Given the description of an element on the screen output the (x, y) to click on. 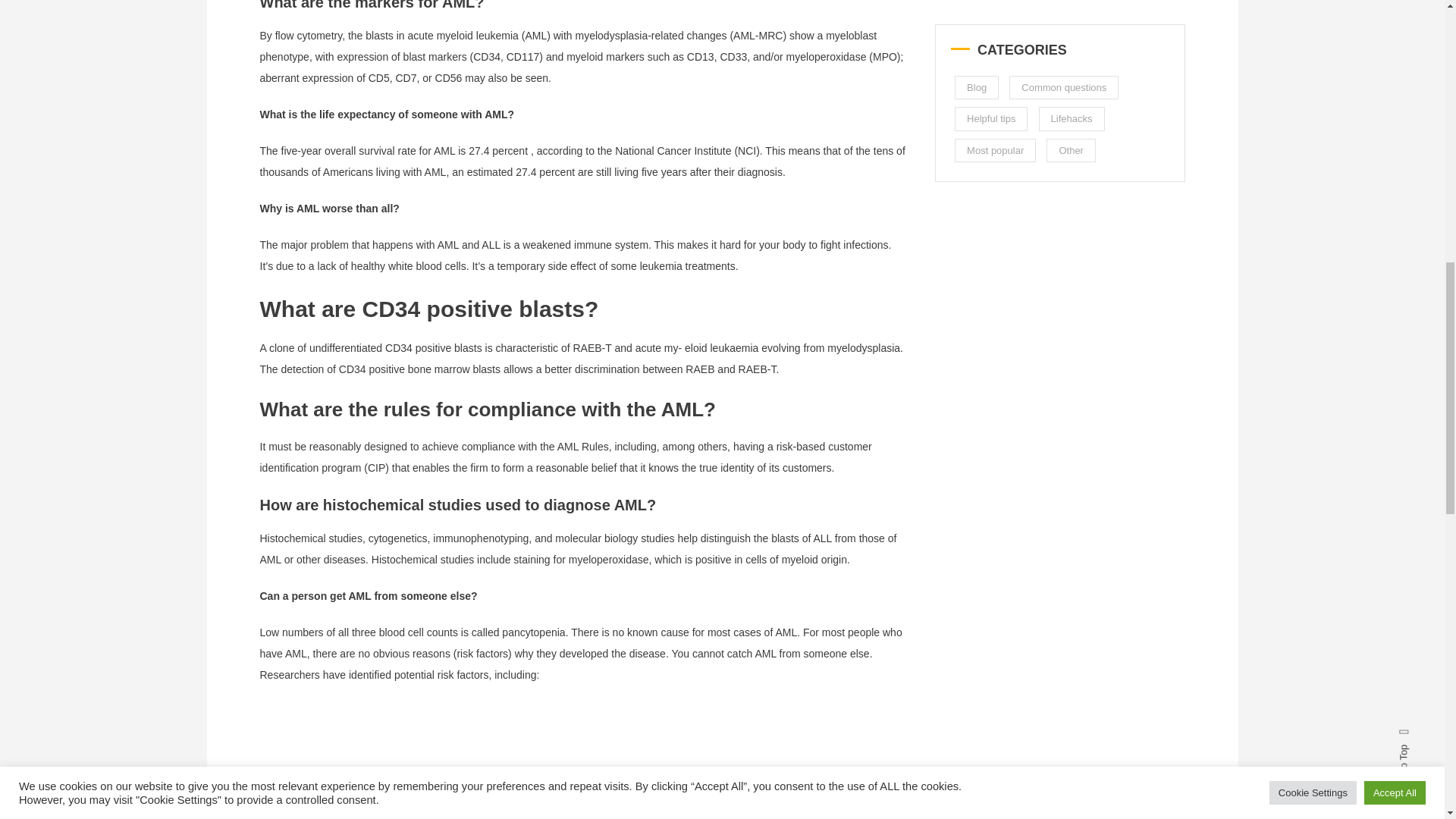
NOOBS PLAY BRAWL STARS, from the start subscriber request (501, 760)
